Given the description of an element on the screen output the (x, y) to click on. 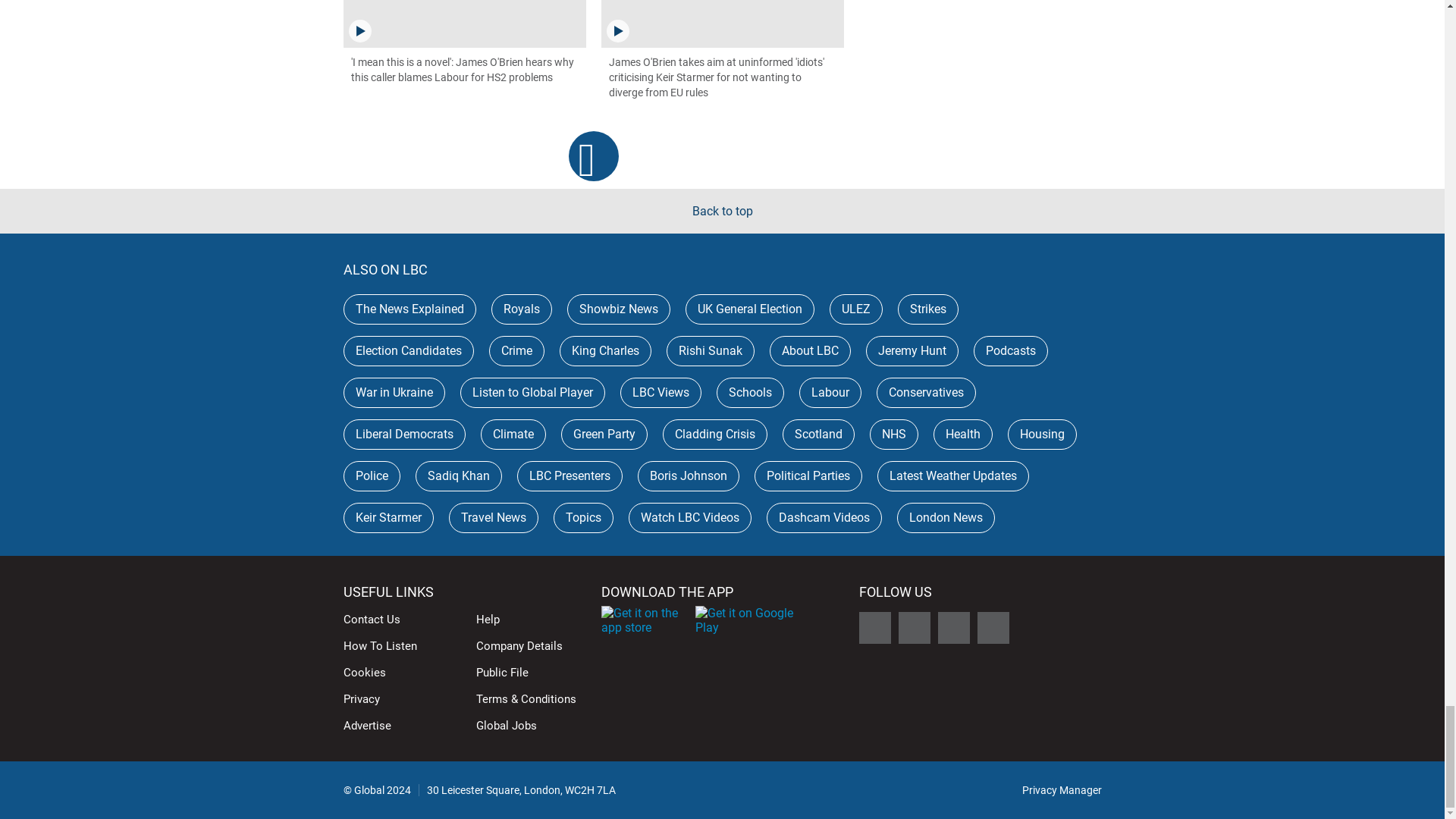
Follow LBC on Instagram (953, 627)
Follow LBC on X (874, 627)
Back to top (721, 210)
Follow LBC on Facebook (914, 627)
View More (593, 155)
Follow LBC on Youtube (992, 627)
